Given the description of an element on the screen output the (x, y) to click on. 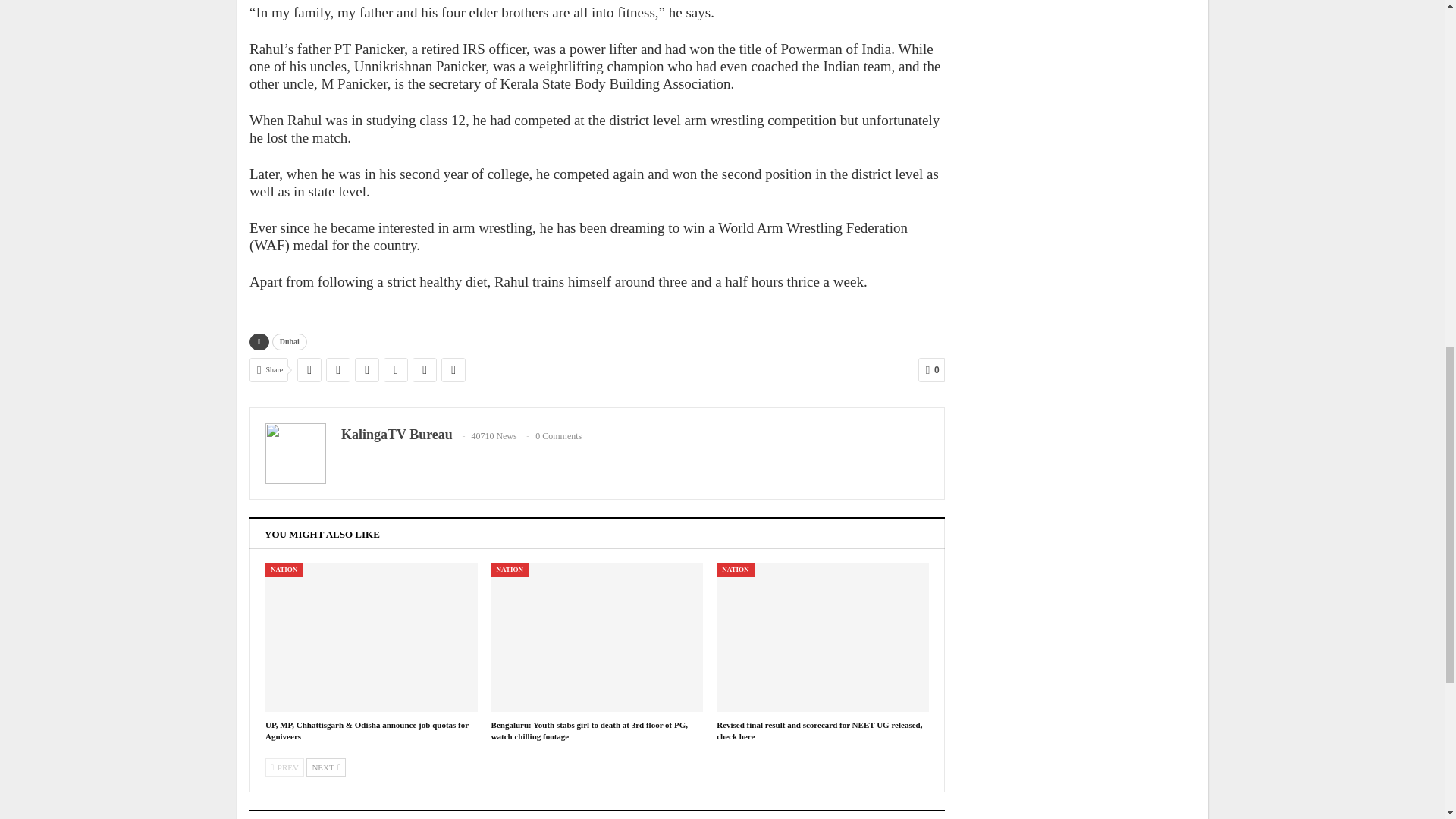
Previous (284, 767)
0 (931, 369)
Next (325, 767)
Dubai (289, 341)
